Given the description of an element on the screen output the (x, y) to click on. 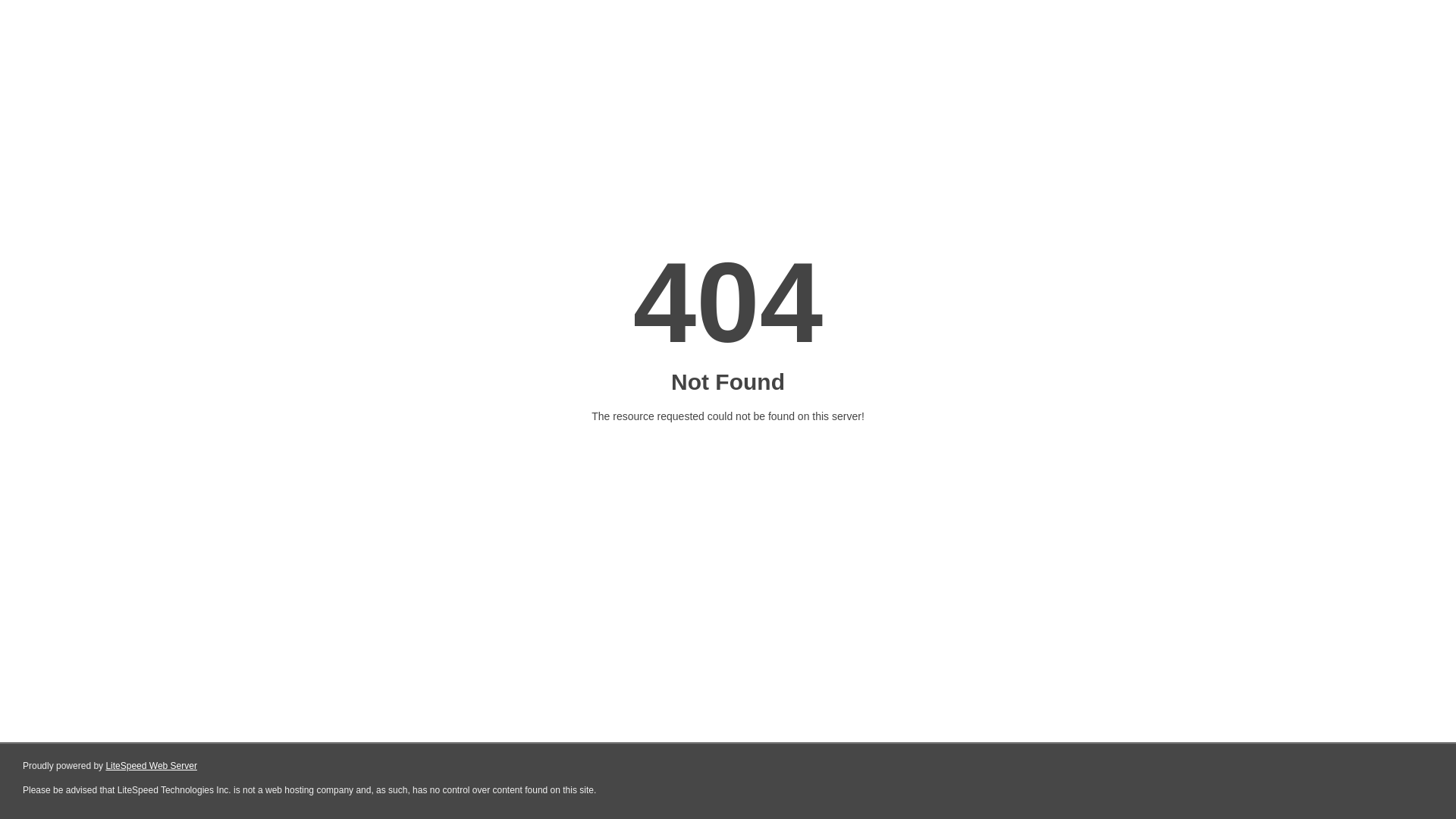
LiteSpeed Web Server Element type: text (151, 765)
